Given the description of an element on the screen output the (x, y) to click on. 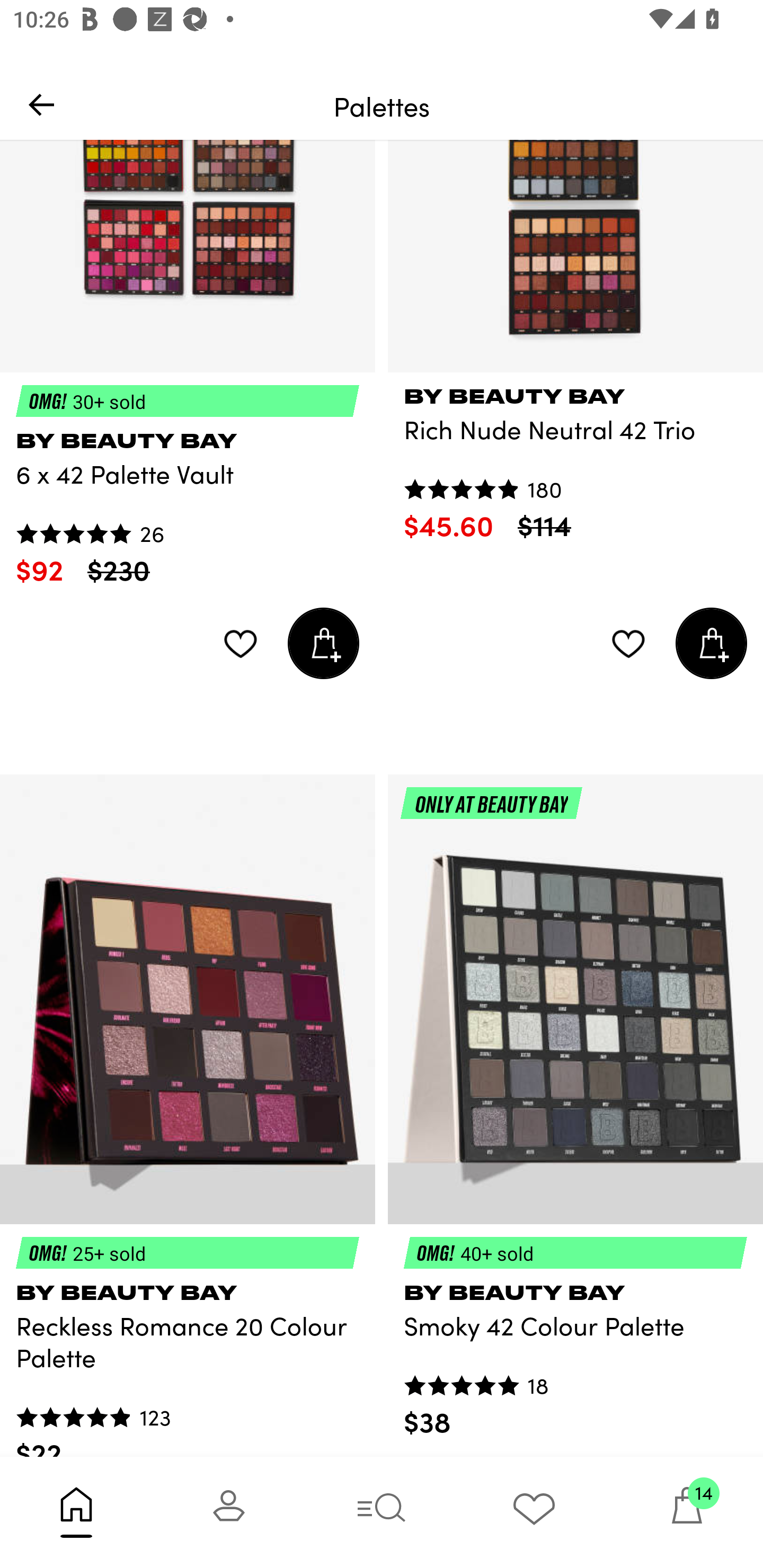
14 (686, 1512)
